Given the description of an element on the screen output the (x, y) to click on. 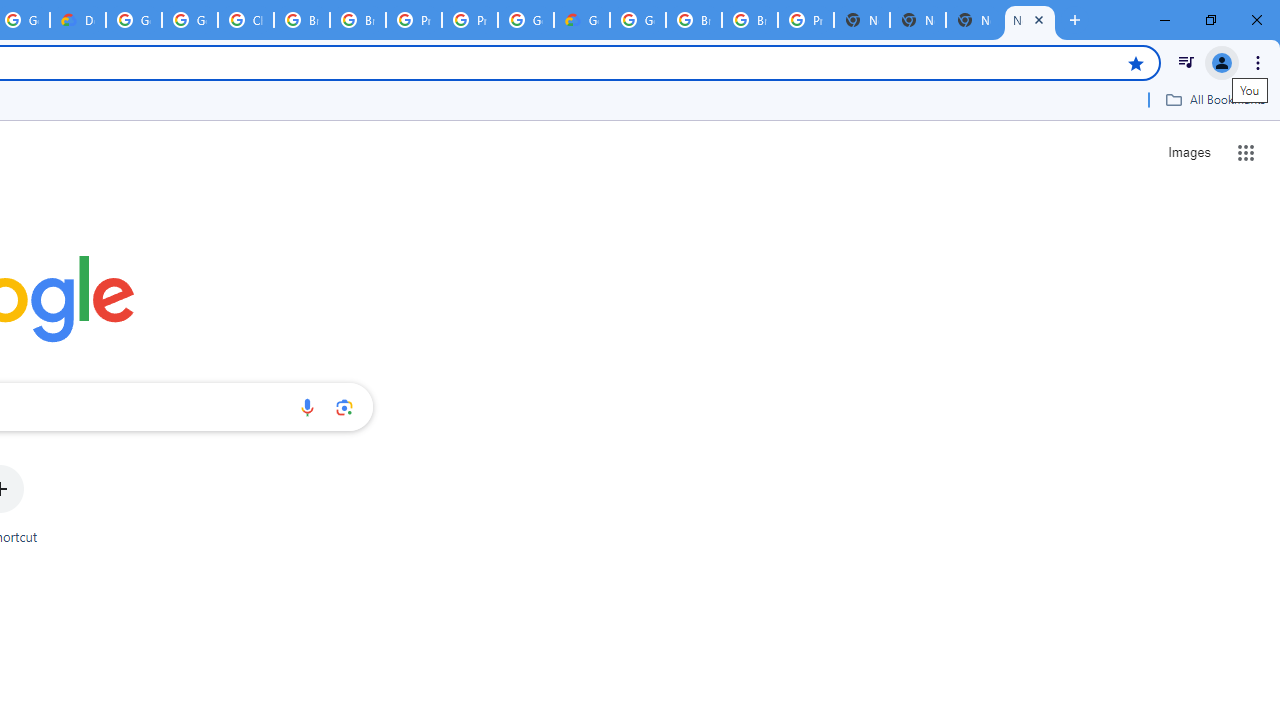
Control your music, videos, and more (1185, 62)
New Tab (1030, 20)
Google Cloud Platform (637, 20)
Browse Chrome as a guest - Computer - Google Chrome Help (693, 20)
Google Cloud Platform (134, 20)
Google Cloud Platform (525, 20)
New Tab (861, 20)
Search for Images  (1188, 152)
